Given the description of an element on the screen output the (x, y) to click on. 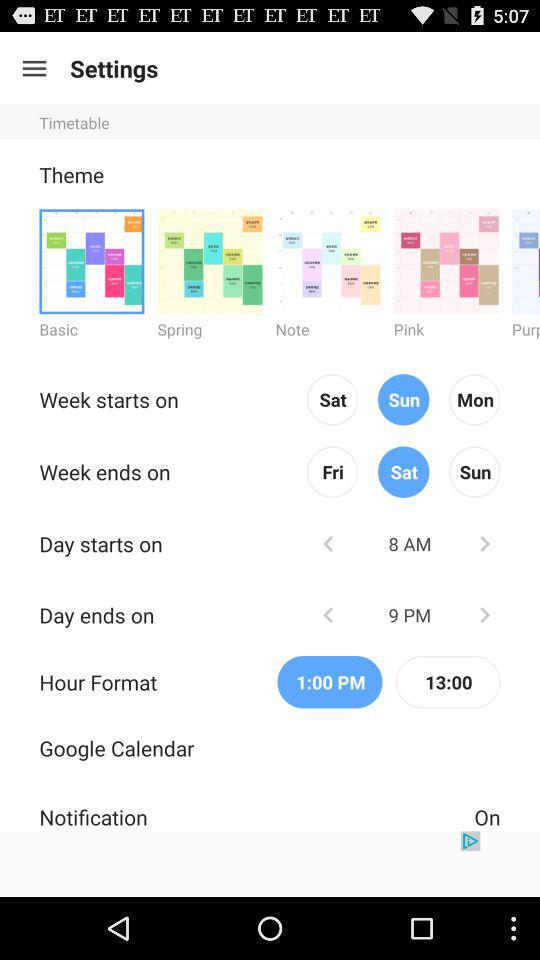
select theme (209, 260)
